Given the description of an element on the screen output the (x, y) to click on. 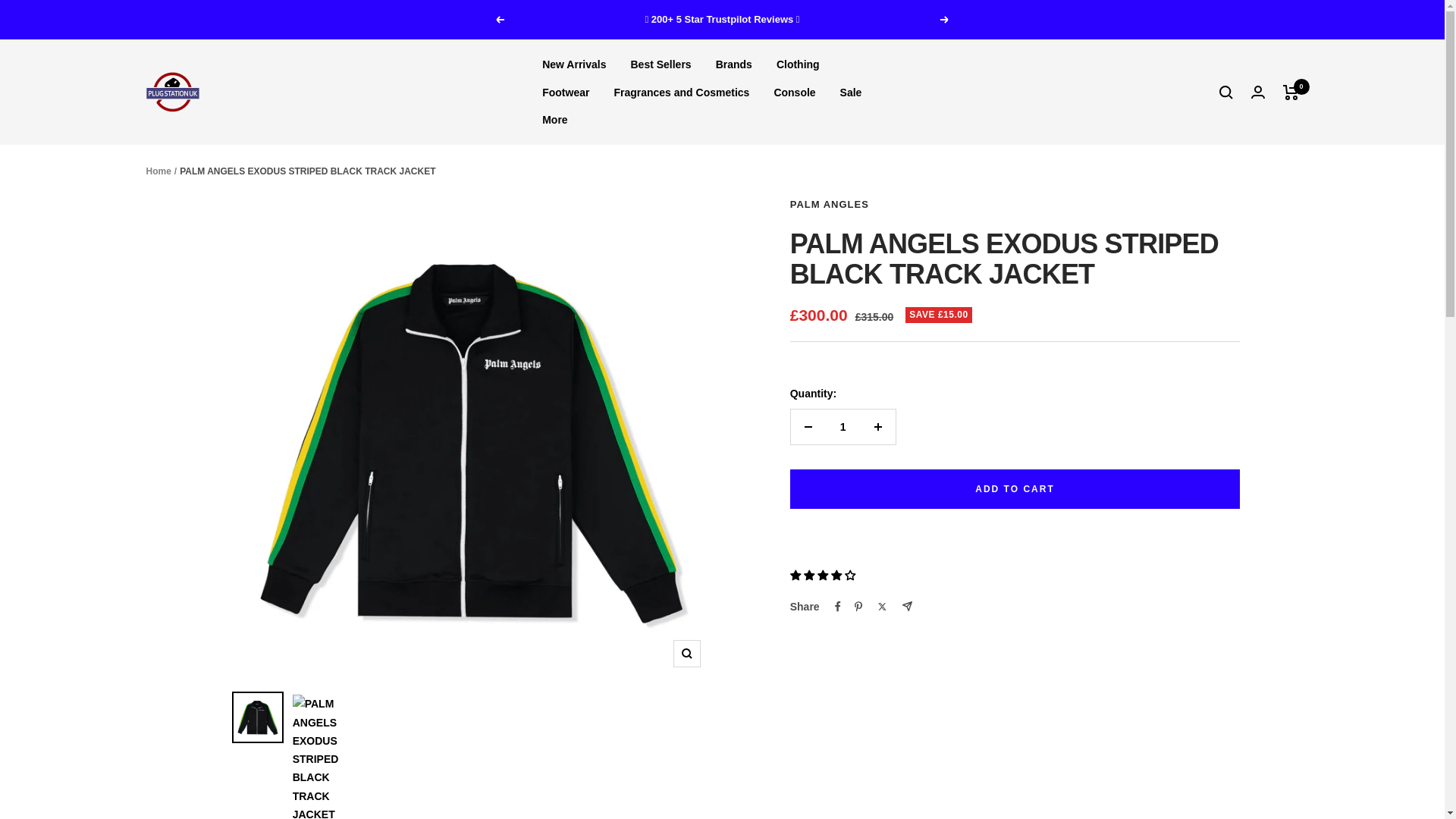
1 (842, 426)
Sale (850, 92)
Brands (734, 64)
Clothing (797, 64)
Previous (499, 19)
Next (944, 19)
Plugstationuk (171, 92)
More (554, 119)
0 (1290, 92)
Fragrances and Cosmetics (680, 92)
